Given the description of an element on the screen output the (x, y) to click on. 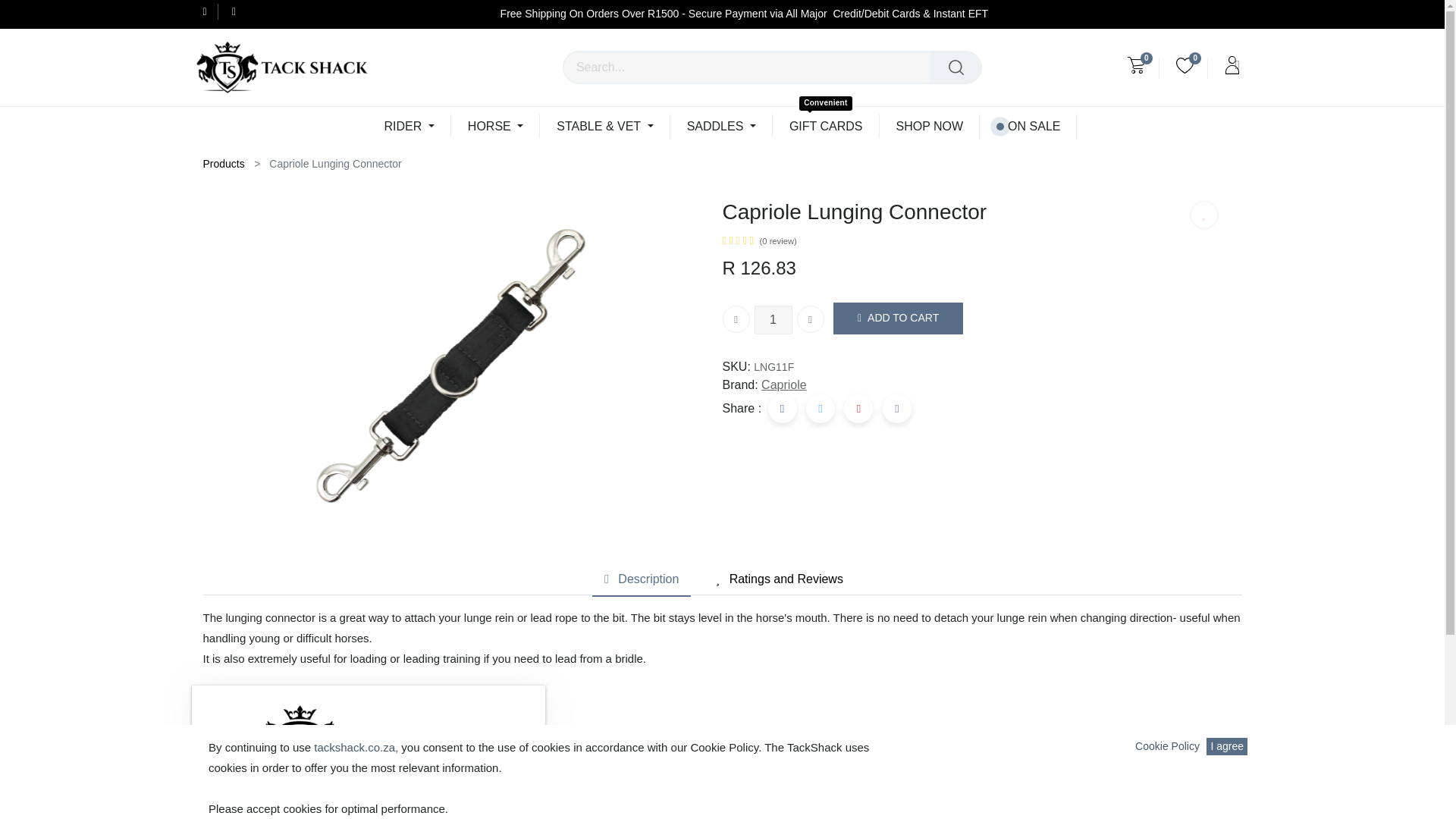
Tack Shack (280, 67)
RIDER (409, 126)
HORSE (495, 126)
Search (955, 67)
1 (773, 319)
